Given the description of an element on the screen output the (x, y) to click on. 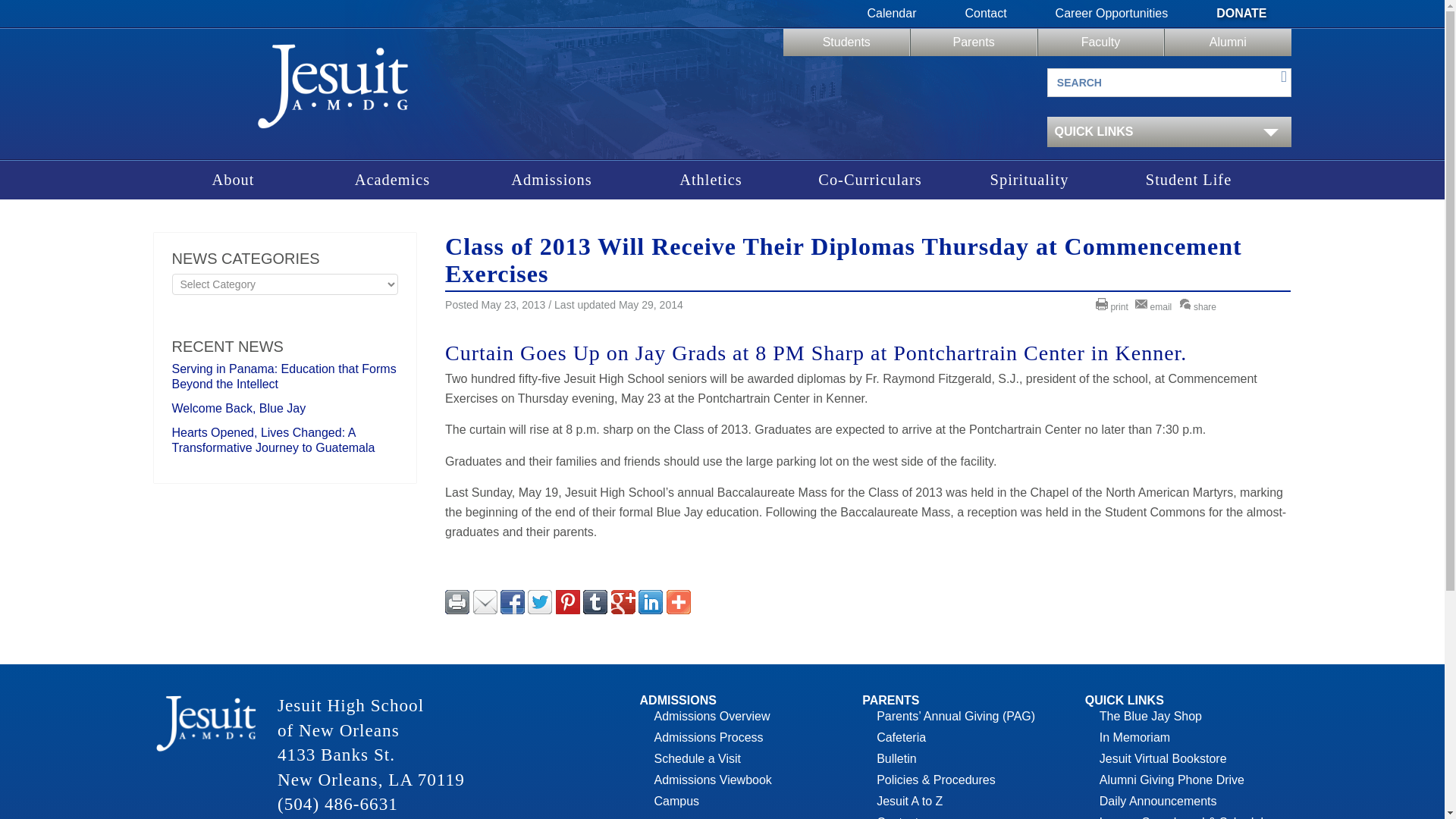
Welcome Back, Blue Jay (238, 408)
Contact (985, 13)
Athletics (710, 179)
About (232, 179)
print (1114, 307)
Calendar (891, 13)
share (1199, 307)
Co-Curriculars (869, 179)
Academics (392, 179)
